Given the description of an element on the screen output the (x, y) to click on. 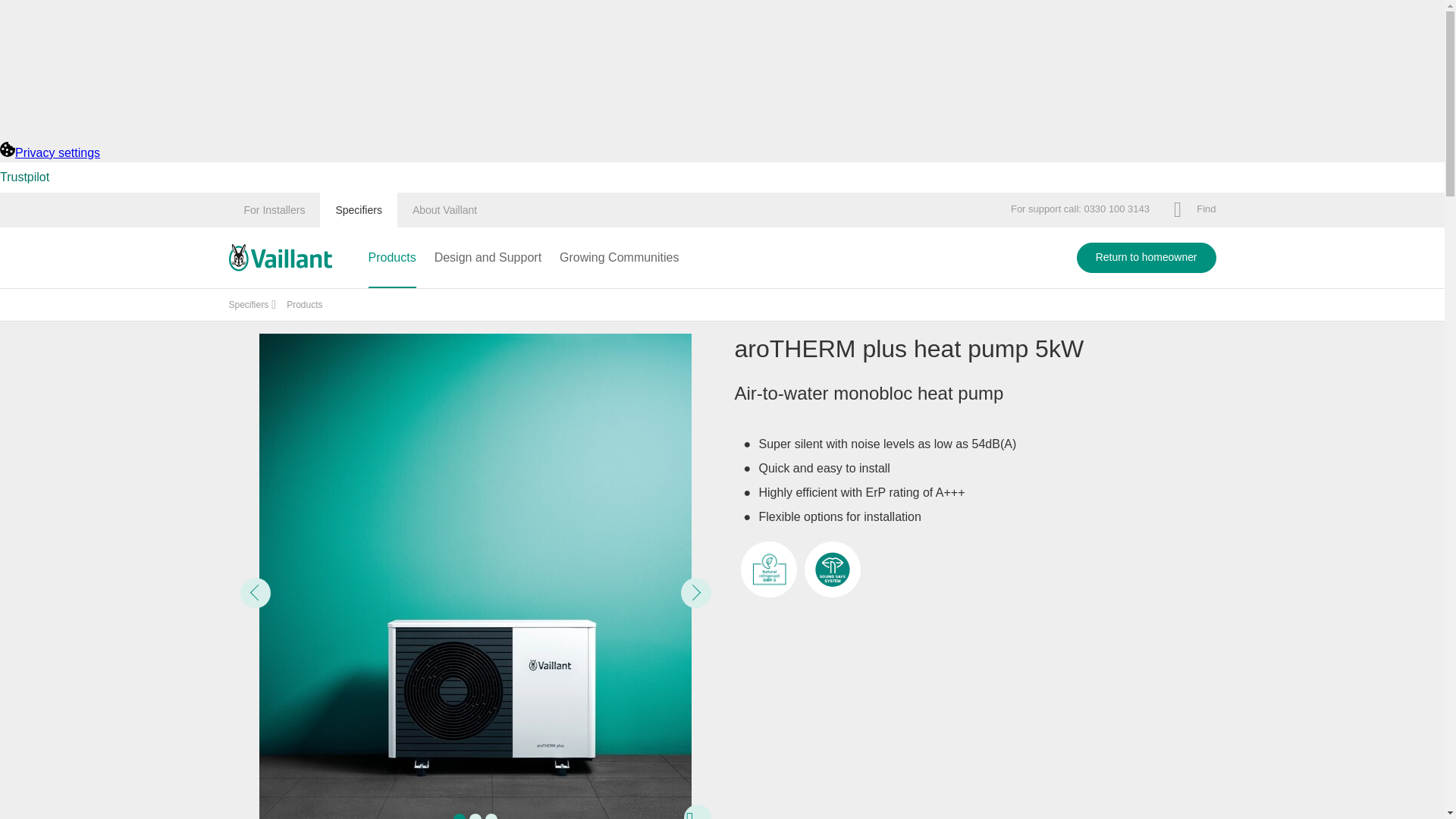
Specifiers (358, 209)
About Vaillant (444, 209)
Find (1194, 209)
Design and Support (487, 257)
Trustpilot (24, 176)
For support call: 0330 100 3143 (1080, 209)
For Installers (274, 209)
Vaillant (279, 257)
